Given the description of an element on the screen output the (x, y) to click on. 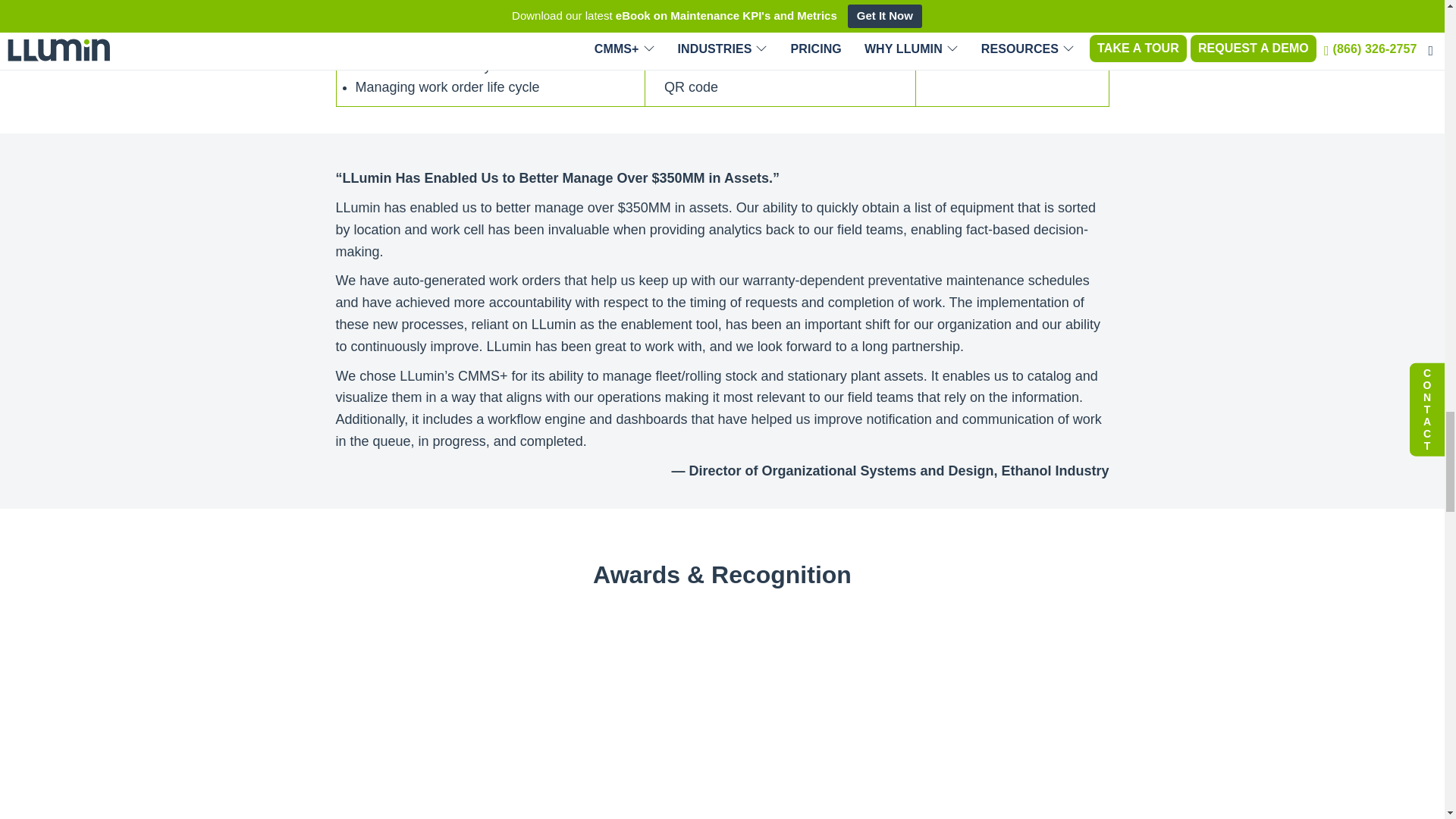
image4 (721, 698)
image3 (561, 698)
image2 (399, 698)
slashdot (881, 698)
